Given the description of an element on the screen output the (x, y) to click on. 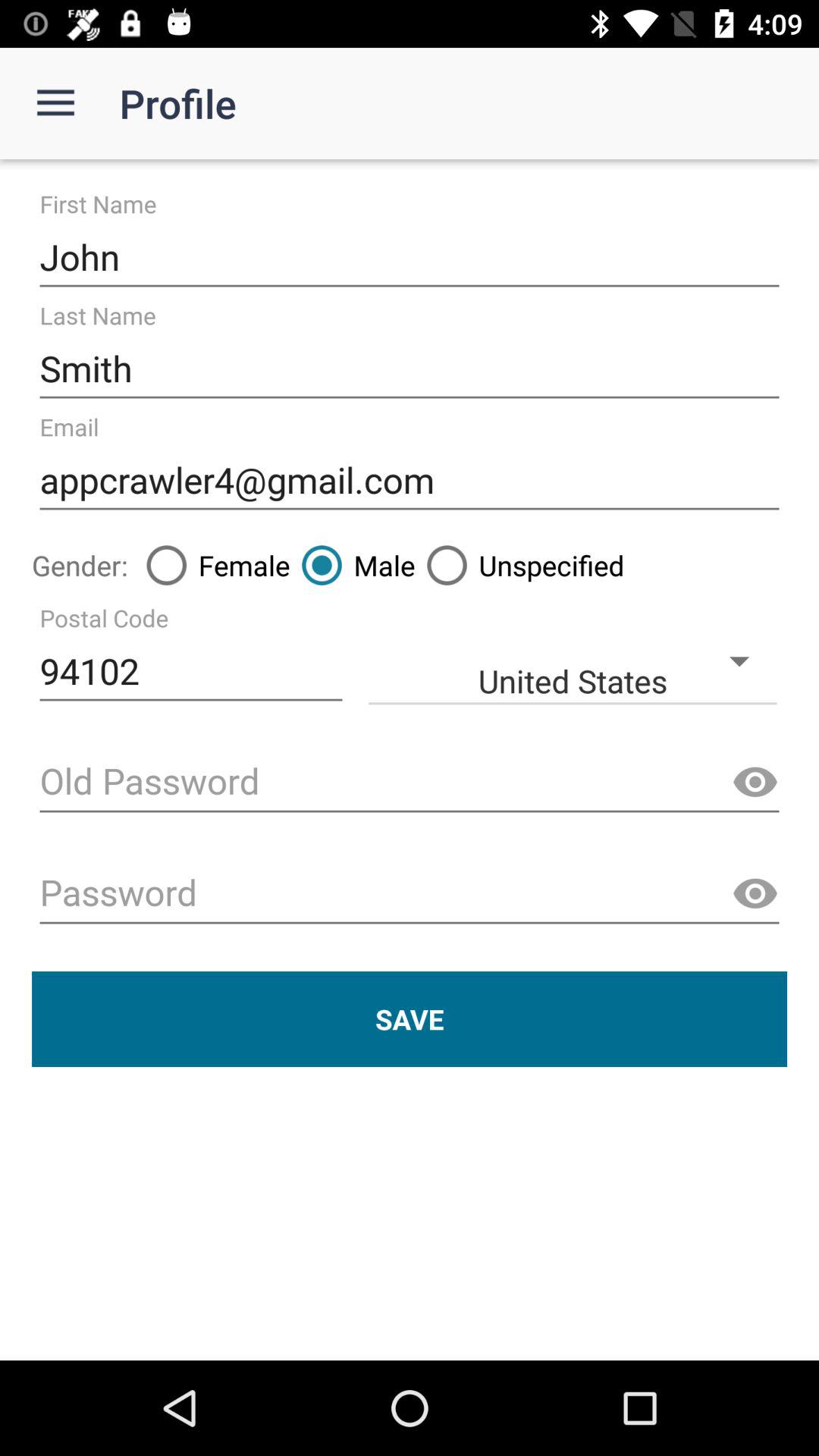
choose item to the right of female (352, 565)
